Given the description of an element on the screen output the (x, y) to click on. 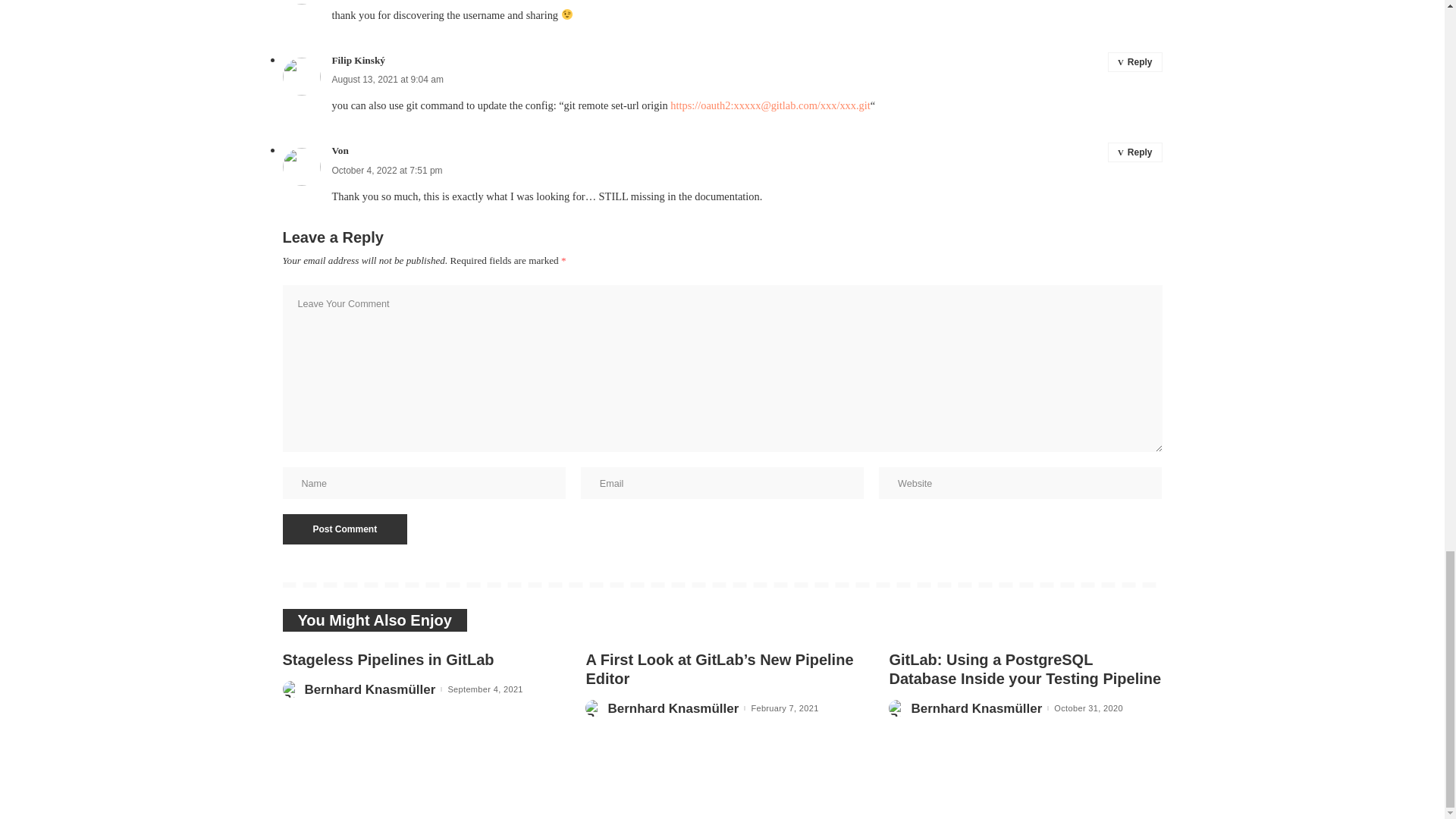
Post Comment (344, 529)
